Given the description of an element on the screen output the (x, y) to click on. 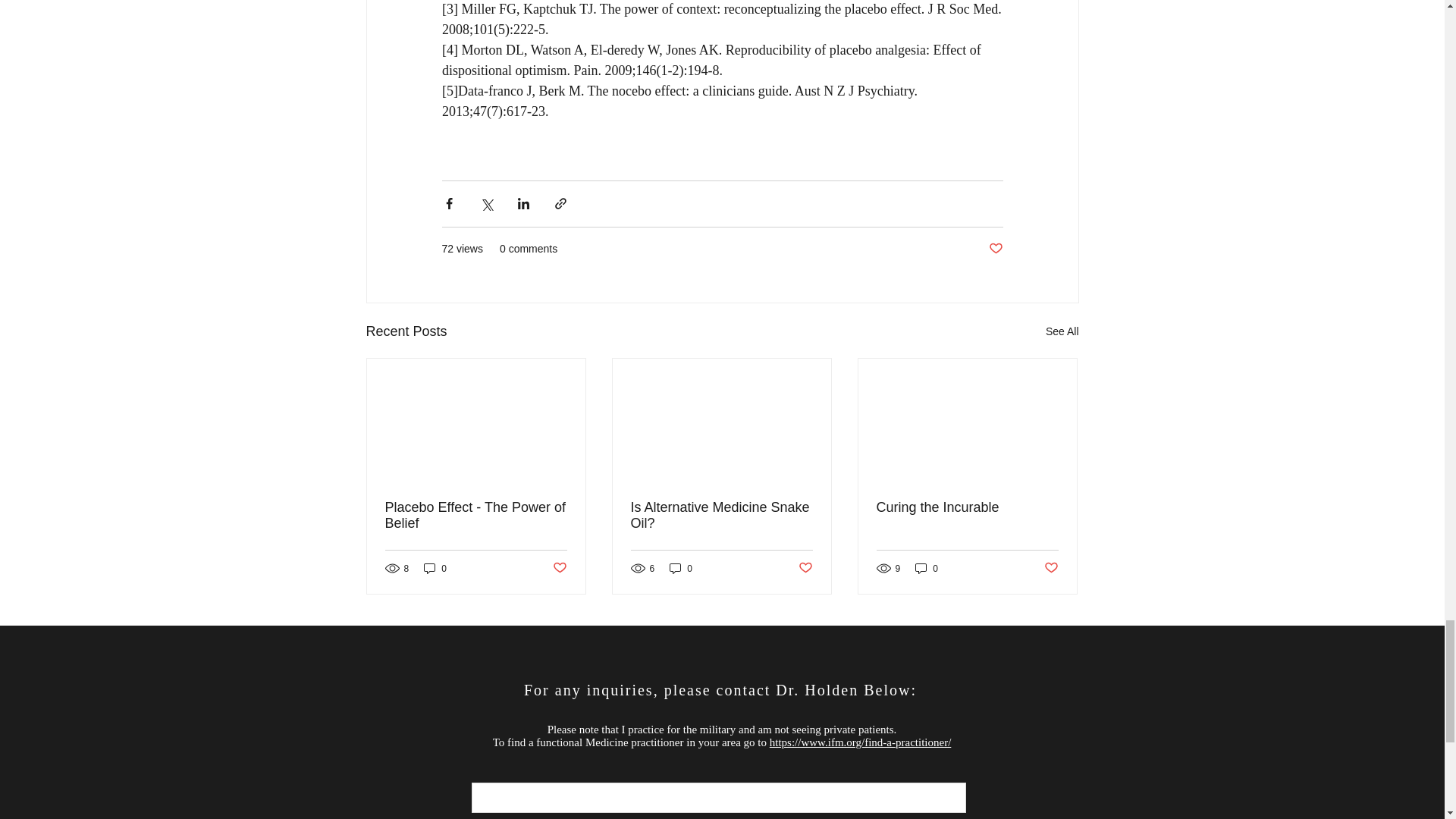
0 (435, 568)
Post not marked as liked (995, 248)
Post not marked as liked (558, 568)
Post not marked as liked (804, 568)
See All (1061, 332)
Curing the Incurable (967, 507)
Is Alternative Medicine Snake Oil? (721, 515)
Placebo Effect - The Power of Belief (476, 515)
Post not marked as liked (1050, 568)
0 (926, 568)
